Given the description of an element on the screen output the (x, y) to click on. 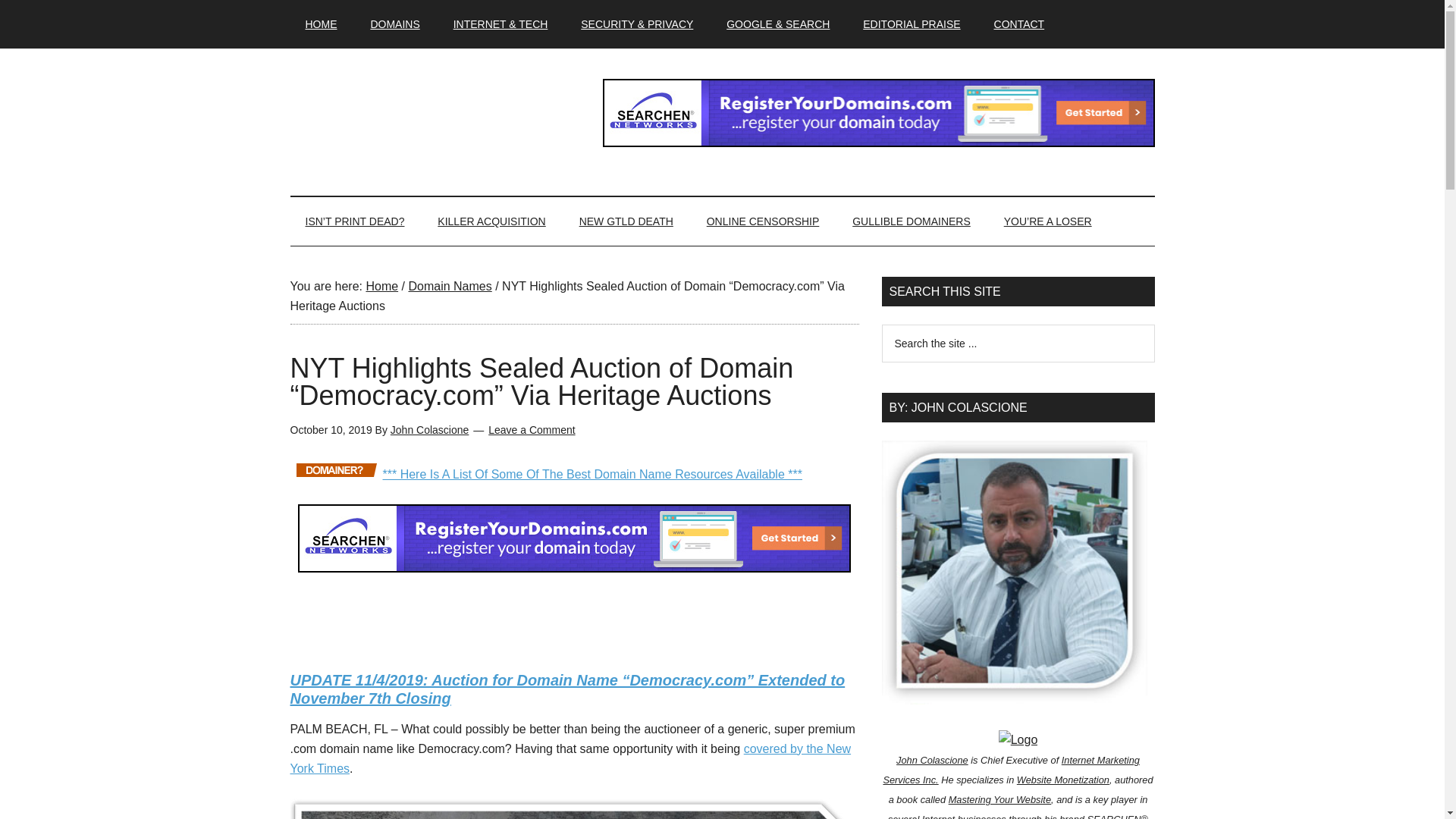
KILLER ACQUISITION (491, 221)
NEW GTLD DEATH (626, 221)
covered by the New York Times (569, 758)
GULLIBLE DOMAINERS (911, 221)
HOME (320, 24)
EDITORIAL PRAISE (911, 24)
ONLINE CENSORSHIP (762, 221)
DOMAINS (394, 24)
Strategic Revenue - Domain and Internet News (433, 112)
